Given the description of an element on the screen output the (x, y) to click on. 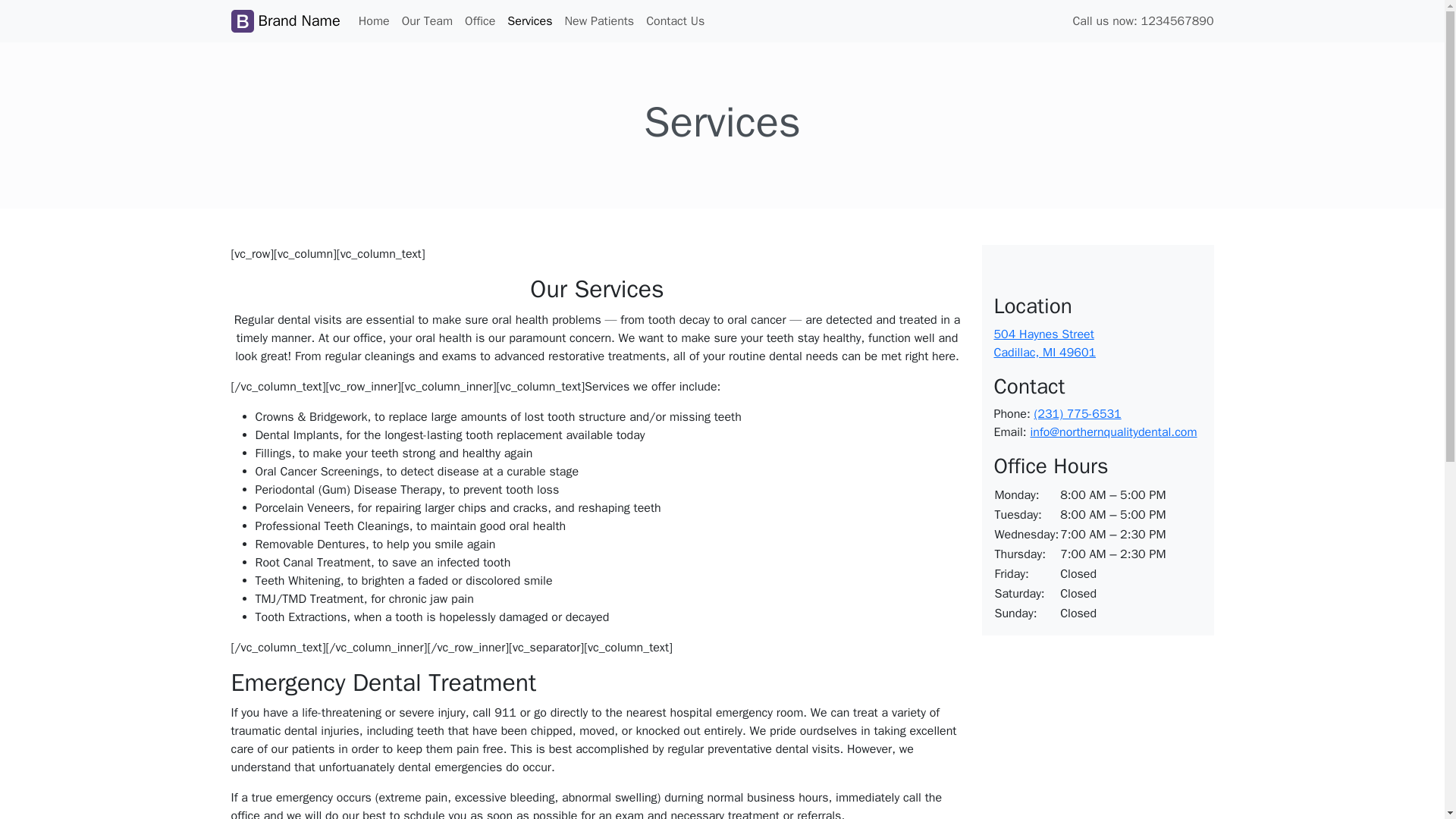
Office (479, 20)
Our Team (427, 20)
Contact Us (675, 20)
Call us now: 1234567890 (1141, 20)
Home (374, 20)
Brand Name (284, 20)
Services (1044, 343)
New Patients (528, 20)
